Given the description of an element on the screen output the (x, y) to click on. 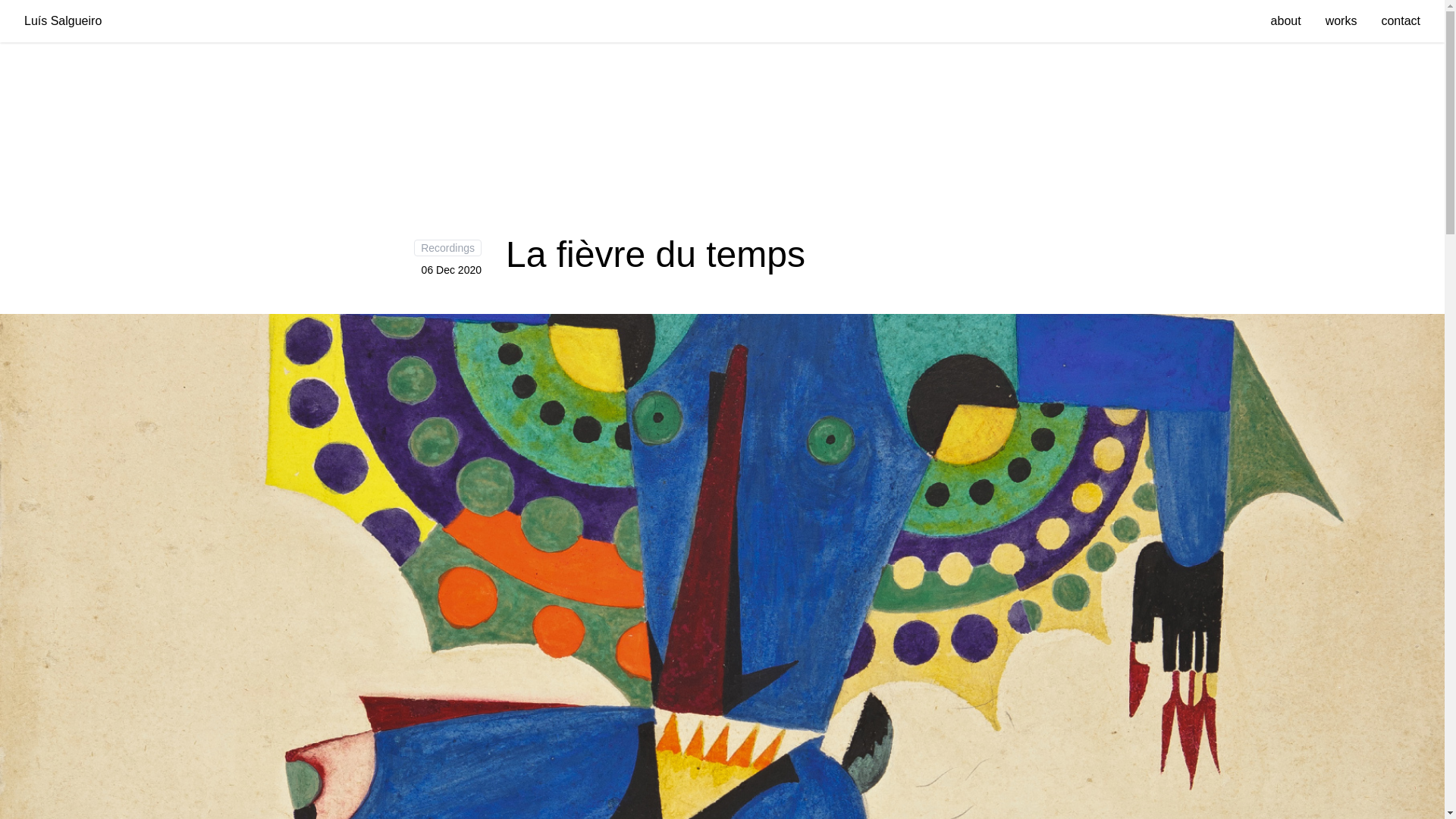
works (1340, 20)
Recordings (447, 247)
contact (1400, 20)
about (1286, 20)
